Given the description of an element on the screen output the (x, y) to click on. 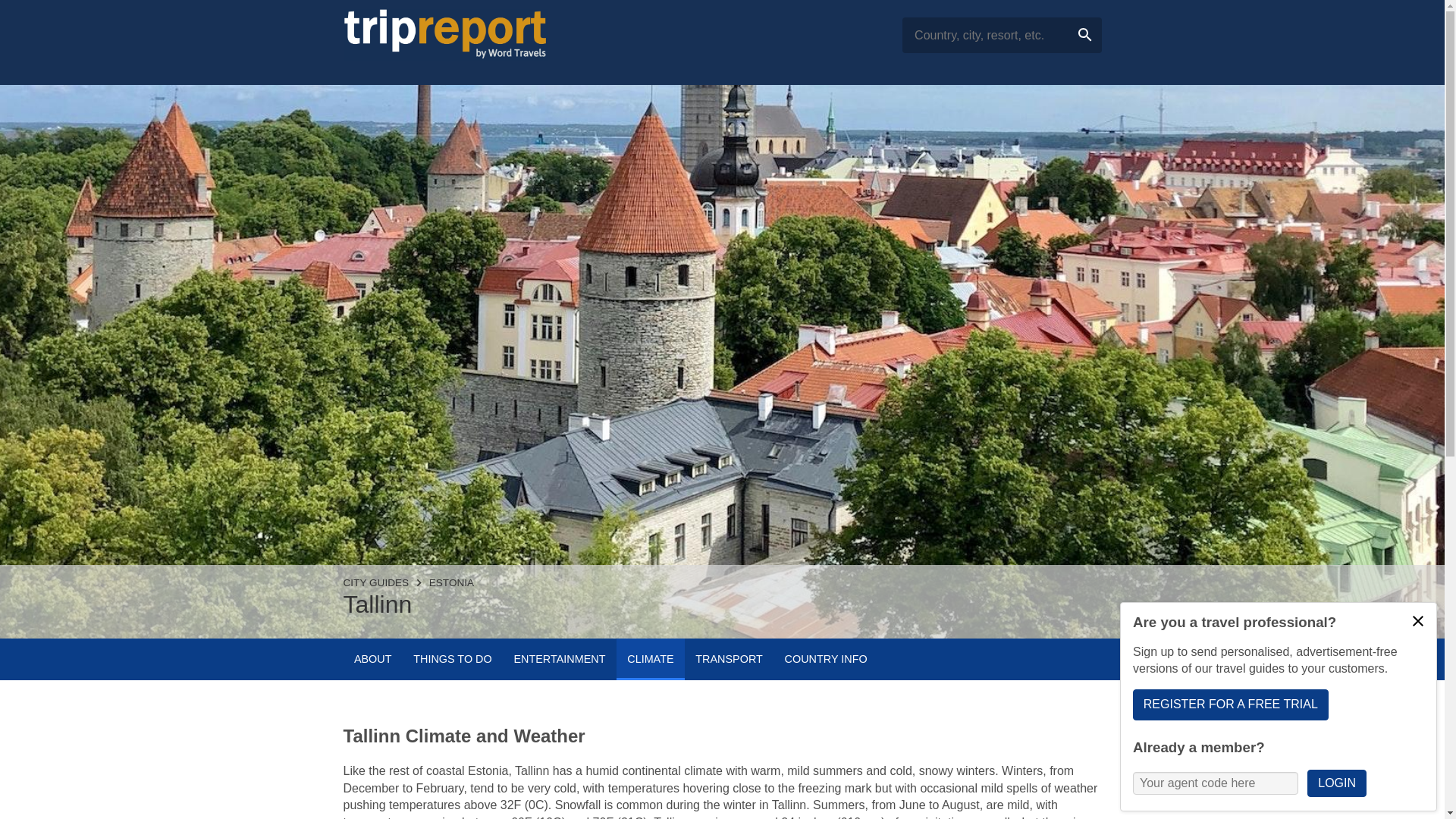
CITY GUIDES (375, 582)
REGISTER FOR A FREE TRIAL (1229, 704)
COUNTRY INFO (825, 659)
THINGS TO DO (452, 659)
LOGIN (1336, 782)
LOGIN (1417, 621)
TRANSPORT (728, 659)
CLIMATE (649, 659)
ENTERTAINMENT (558, 659)
ABOUT (371, 659)
ESTONIA (451, 582)
